Given the description of an element on the screen output the (x, y) to click on. 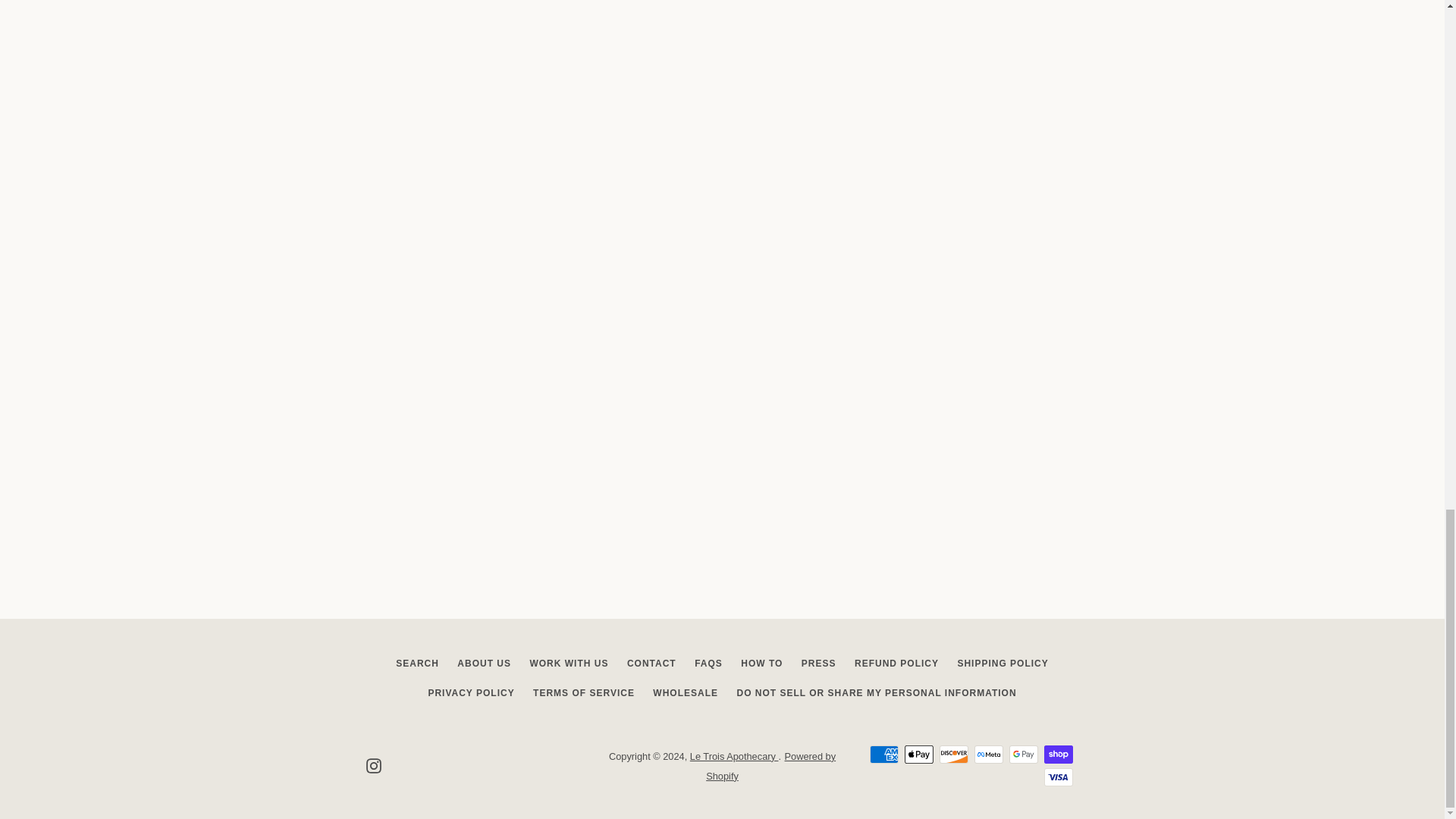
Discover (953, 754)
Visa (1057, 777)
Le Trois Apothecary  on Instagram (372, 765)
Meta Pay (988, 754)
American Express (883, 754)
Google Pay (1022, 754)
Apple Pay (918, 754)
Shop Pay (1057, 754)
